Given the description of an element on the screen output the (x, y) to click on. 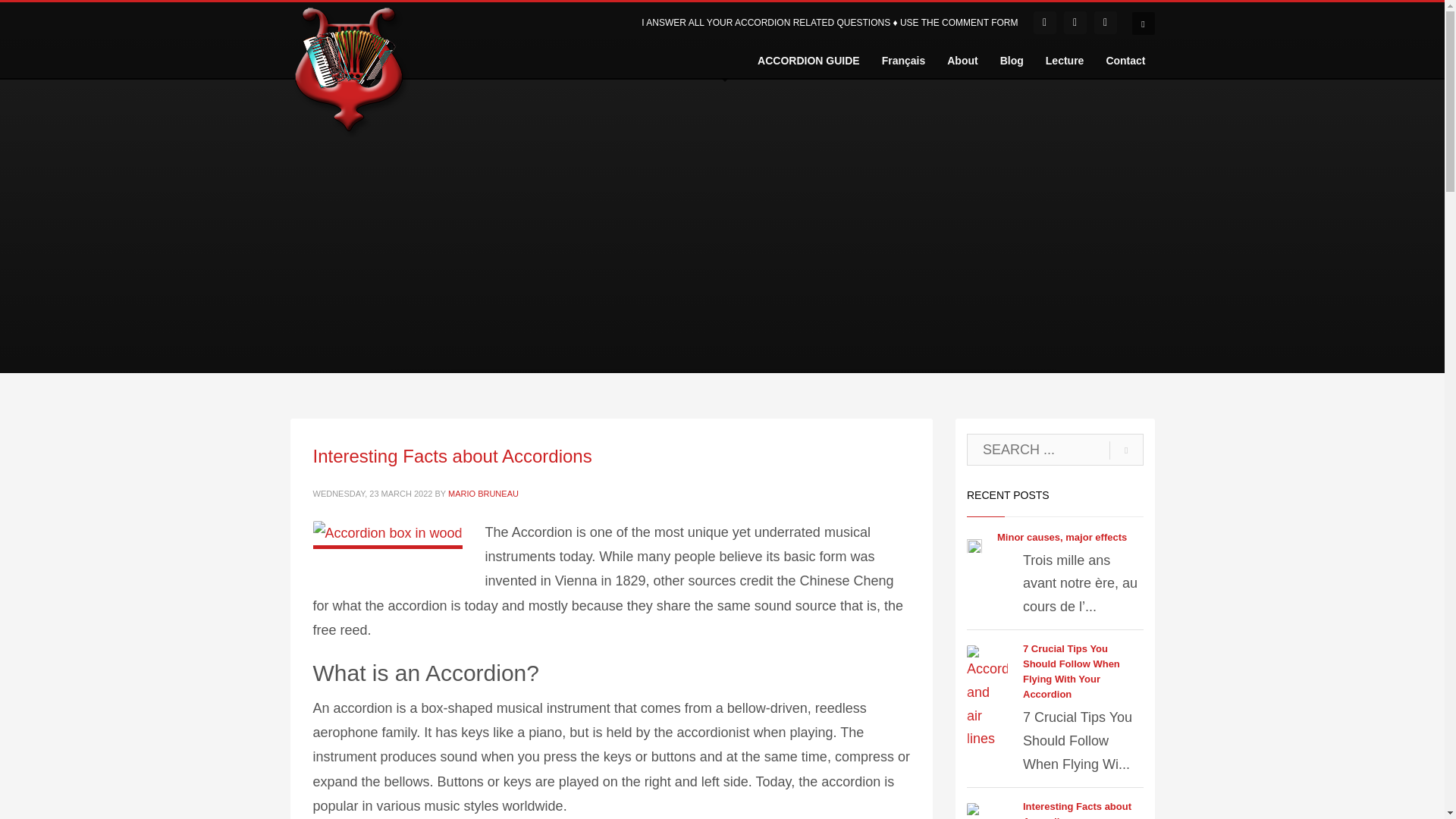
How to choose and tune an accordion (349, 69)
YouTube (1105, 22)
Interesting Facts about Accordions (452, 455)
go (1125, 450)
Minor causes, major effects (1061, 536)
About (962, 60)
MARIO BRUNEAU (483, 492)
Contact (1125, 60)
Interesting Facts about Accordions (1077, 809)
Posts by Mario Bruneau (483, 492)
Minor causes, major effects (1061, 536)
SoundCloud (1075, 22)
Interesting Facts about Accordions (1077, 809)
